Given the description of an element on the screen output the (x, y) to click on. 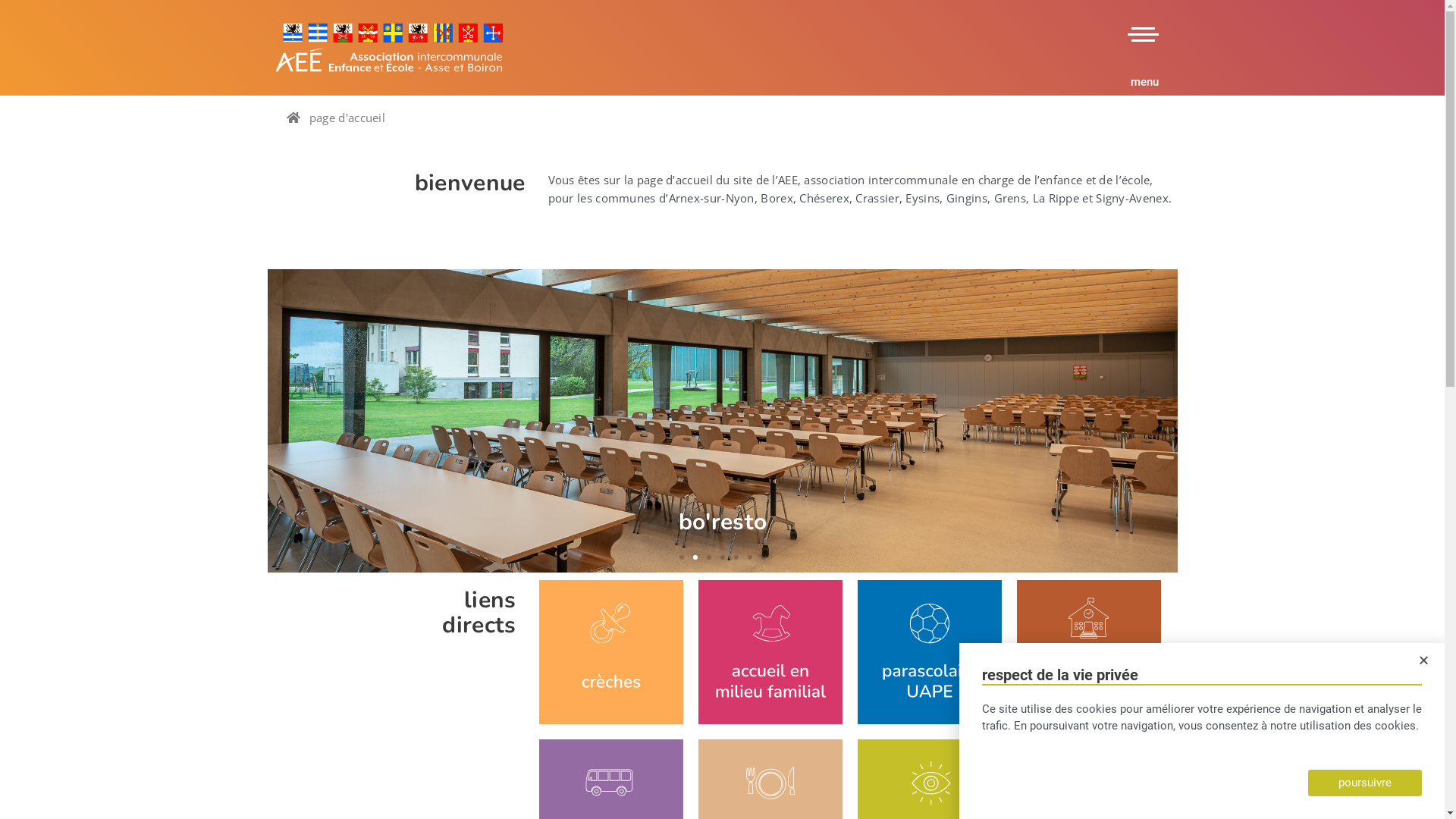
page d'accueil Element type: text (335, 116)
bo'resto Element type: text (721, 420)
poursuivre Element type: text (1364, 782)
Accueil 2 Element type: hover (769, 652)
Accueil 1 Element type: hover (610, 652)
Accueil 4 Element type: hover (1088, 652)
Accueil 3 Element type: hover (928, 652)
